Given the description of an element on the screen output the (x, y) to click on. 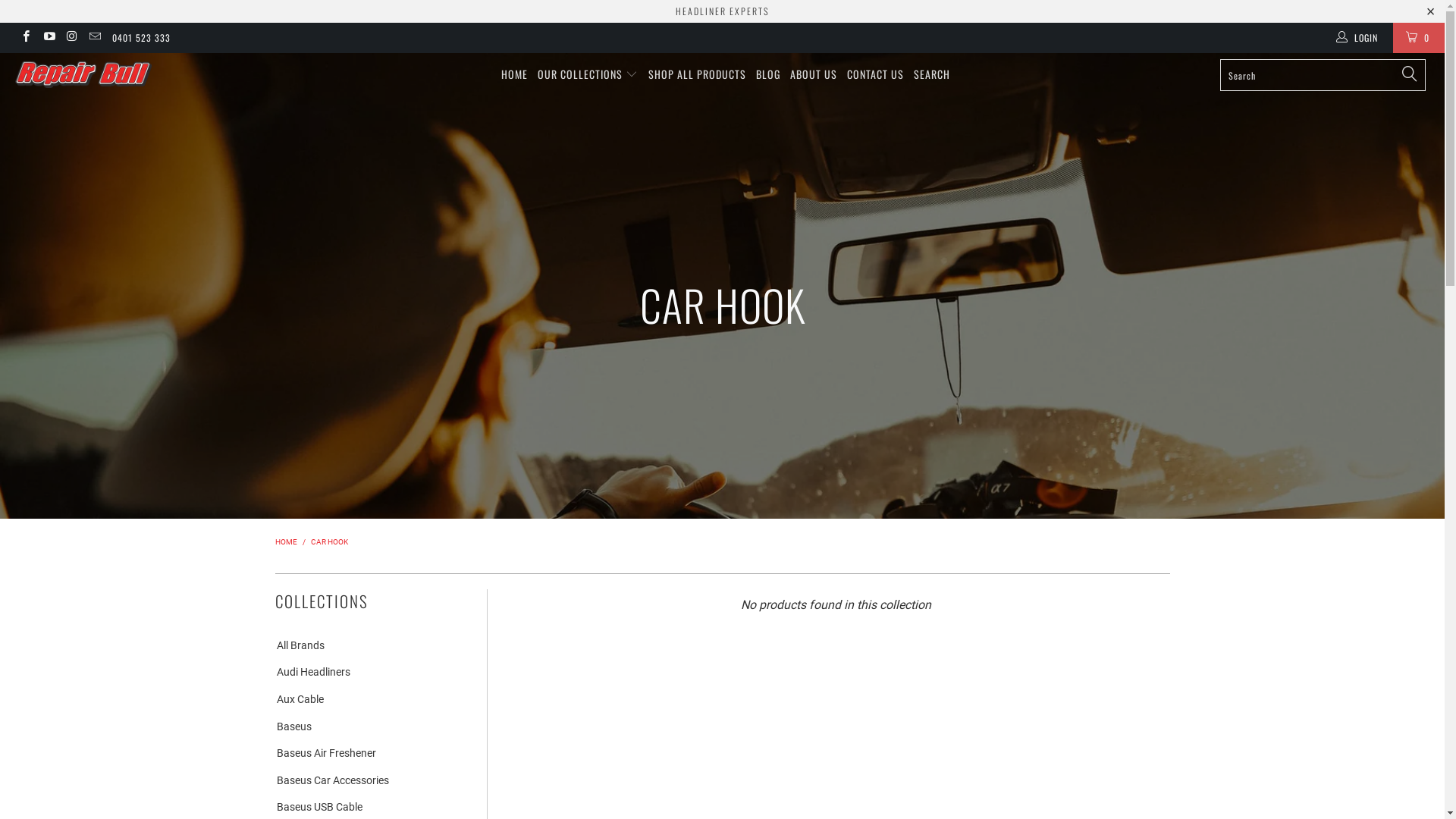
Baseus Air Freshener Element type: text (324, 753)
Repair Bull on YouTube Element type: hover (47, 37)
Repair Bull on Instagram Element type: hover (71, 37)
ABOUT US Element type: text (813, 74)
Baseus USB Cable Element type: text (317, 807)
All Brands Element type: text (298, 645)
Repair Bull on Facebook Element type: hover (24, 37)
Baseus Car Accessories Element type: text (331, 780)
Repair Bull Element type: hover (123, 74)
0401 523 333 Element type: text (141, 37)
Baseus Element type: text (292, 726)
SHOP ALL PRODUCTS Element type: text (697, 74)
BLOG Element type: text (768, 74)
OUR COLLECTIONS Element type: text (587, 74)
Email Repair Bull Element type: hover (93, 37)
0 Element type: text (1418, 37)
Audi Headliners Element type: text (311, 672)
HOME Element type: text (514, 74)
HOME Element type: text (285, 541)
LOGIN Element type: text (1357, 37)
SEARCH Element type: text (931, 74)
CAR HOOK Element type: text (329, 541)
CONTACT US Element type: text (875, 74)
Aux Cable Element type: text (298, 699)
